Given the description of an element on the screen output the (x, y) to click on. 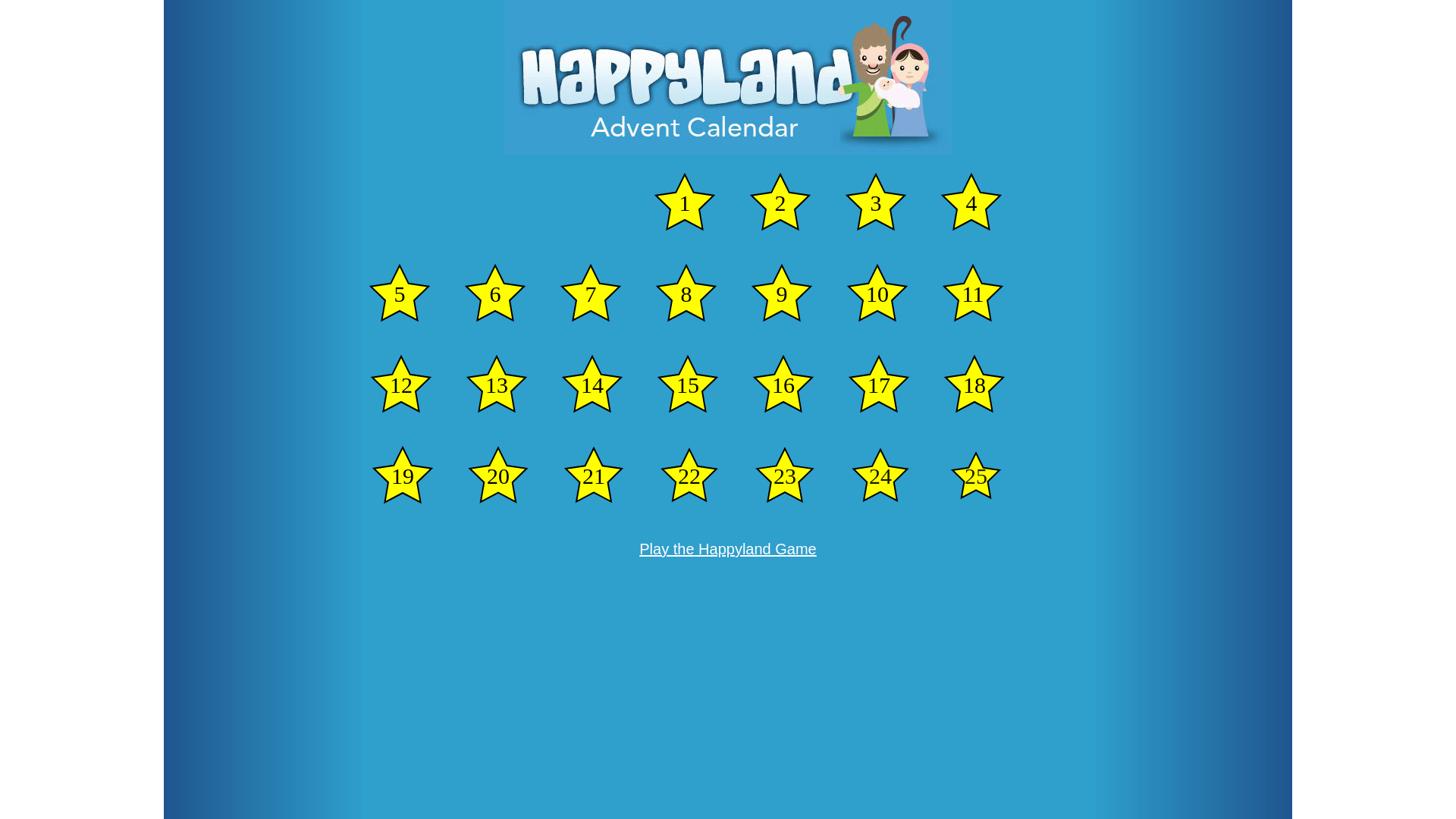
Happyland Advent Calendar Element type: hover (727, 77)
Play the Happyland Game Element type: text (727, 548)
